Given the description of an element on the screen output the (x, y) to click on. 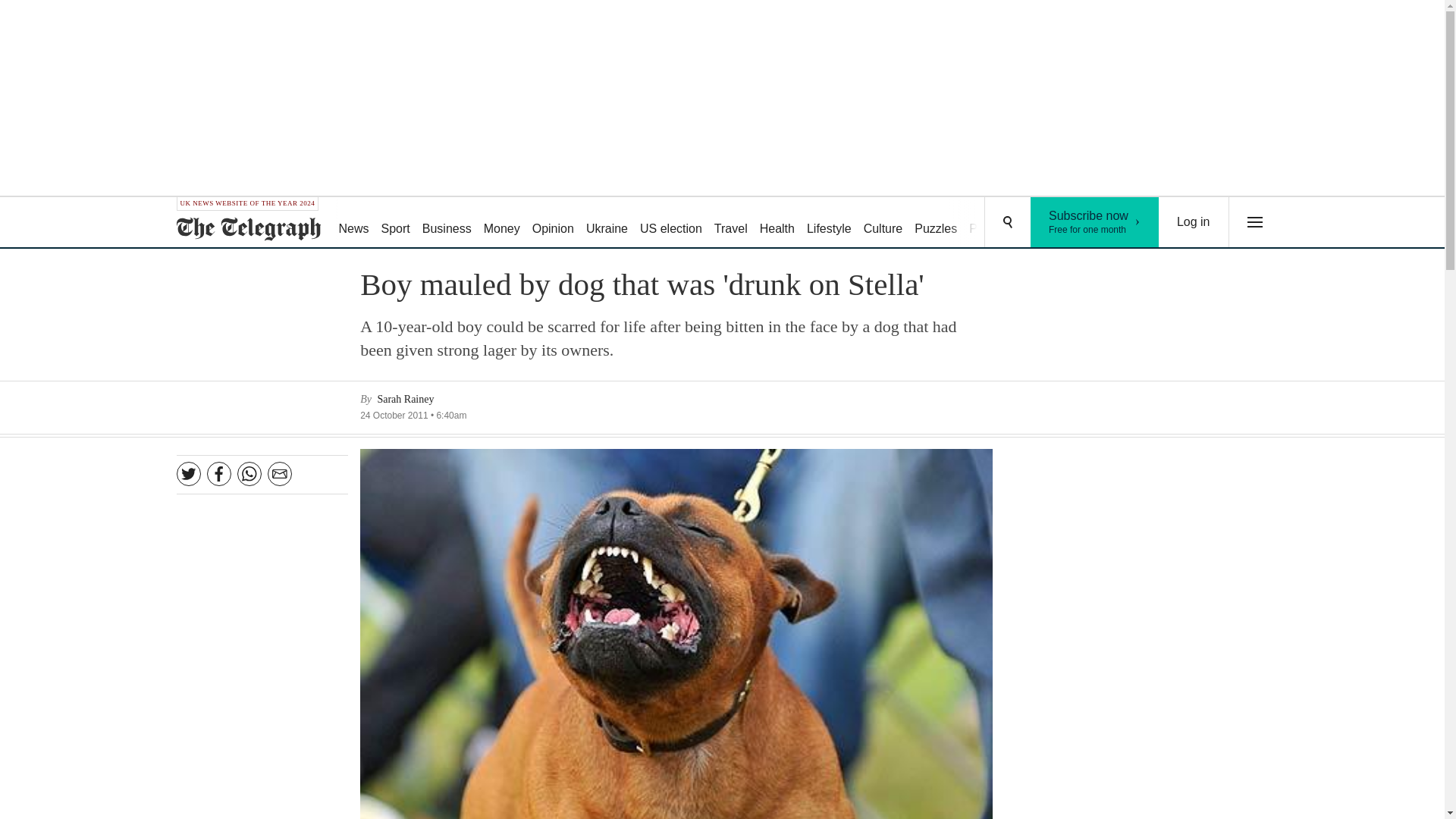
Money (501, 223)
Podcasts (993, 223)
Log in (1193, 222)
Business (1094, 222)
Lifestyle (446, 223)
Opinion (828, 223)
Culture (552, 223)
Health (882, 223)
Ukraine (777, 223)
